Given the description of an element on the screen output the (x, y) to click on. 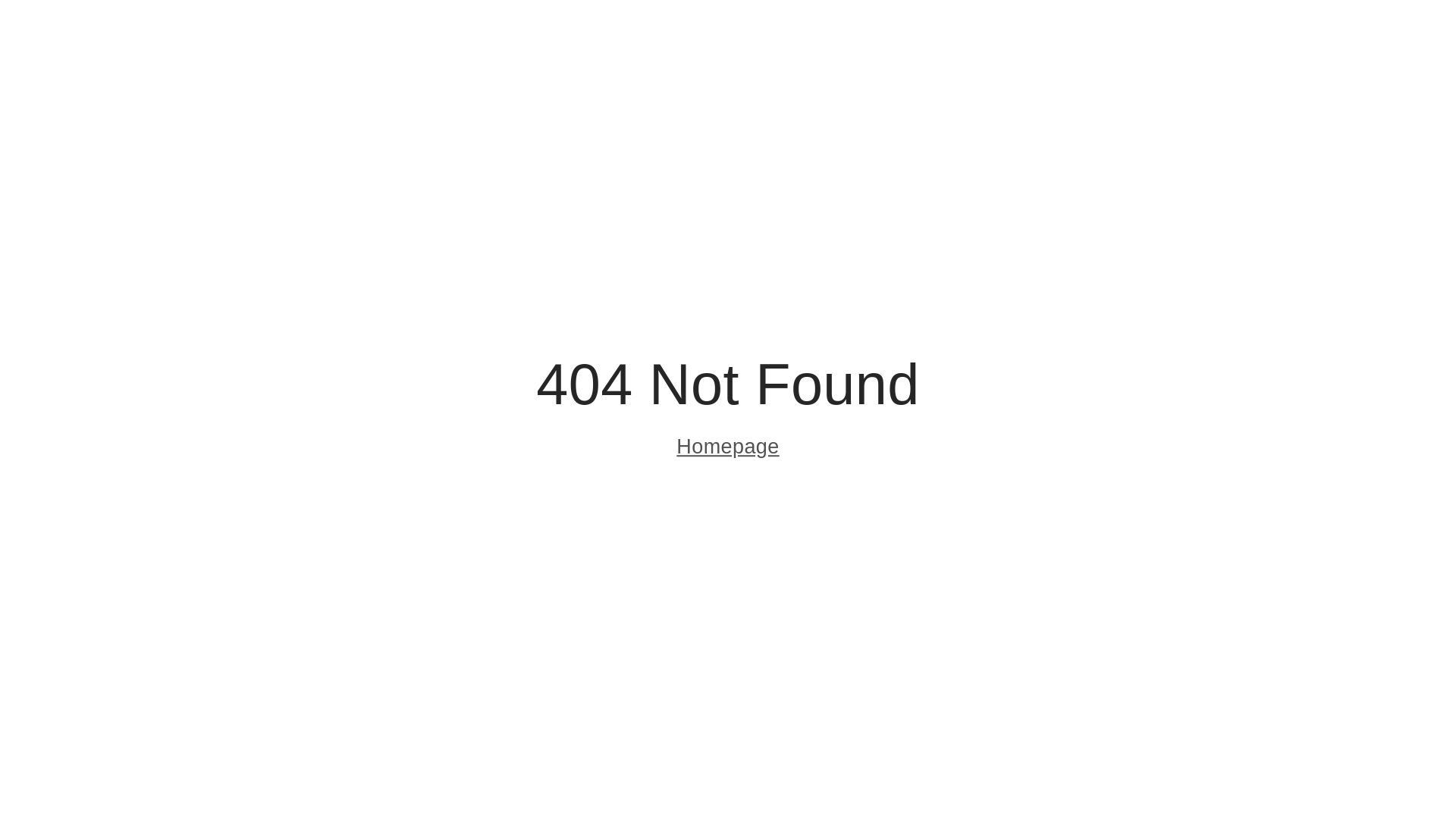
Homepage Element type: text (727, 448)
